Given the description of an element on the screen output the (x, y) to click on. 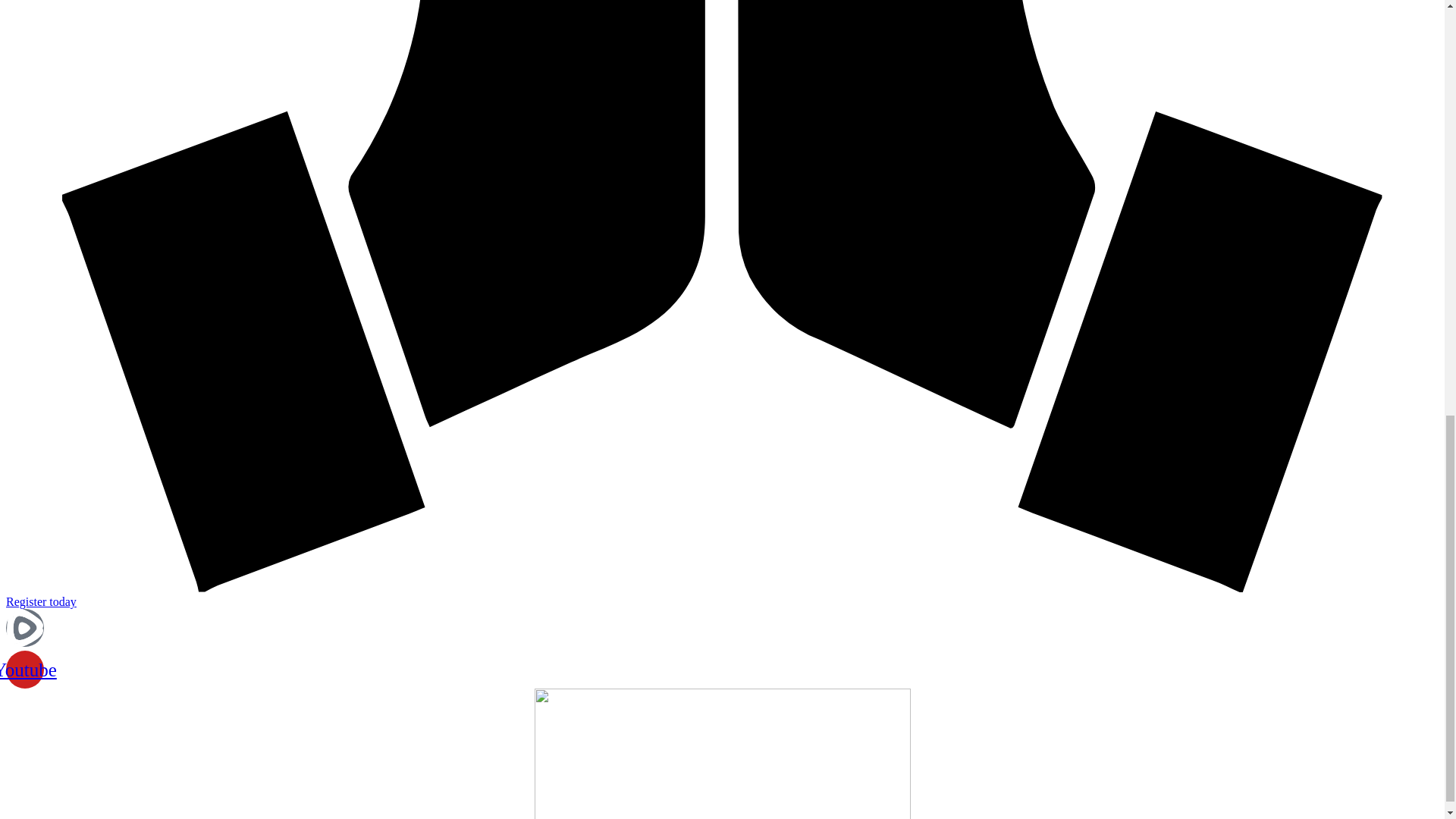
Youtube (24, 669)
